Given the description of an element on the screen output the (x, y) to click on. 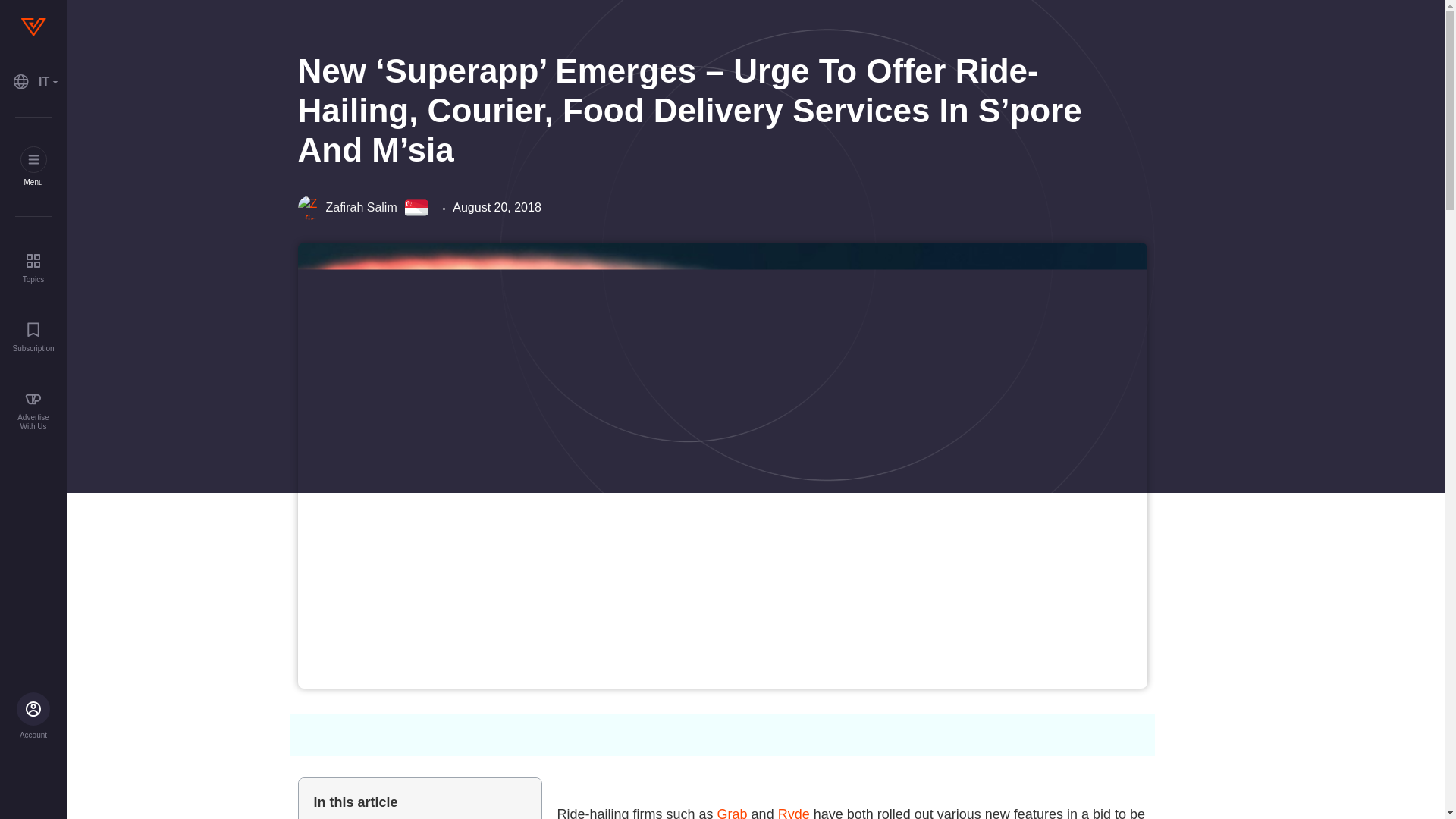
Menu (33, 166)
Subscription (33, 336)
Topics (33, 267)
Grab (732, 812)
Ryde (793, 812)
Advertise With Us (33, 410)
Zafirah Salim (346, 207)
IT (33, 81)
